Given the description of an element on the screen output the (x, y) to click on. 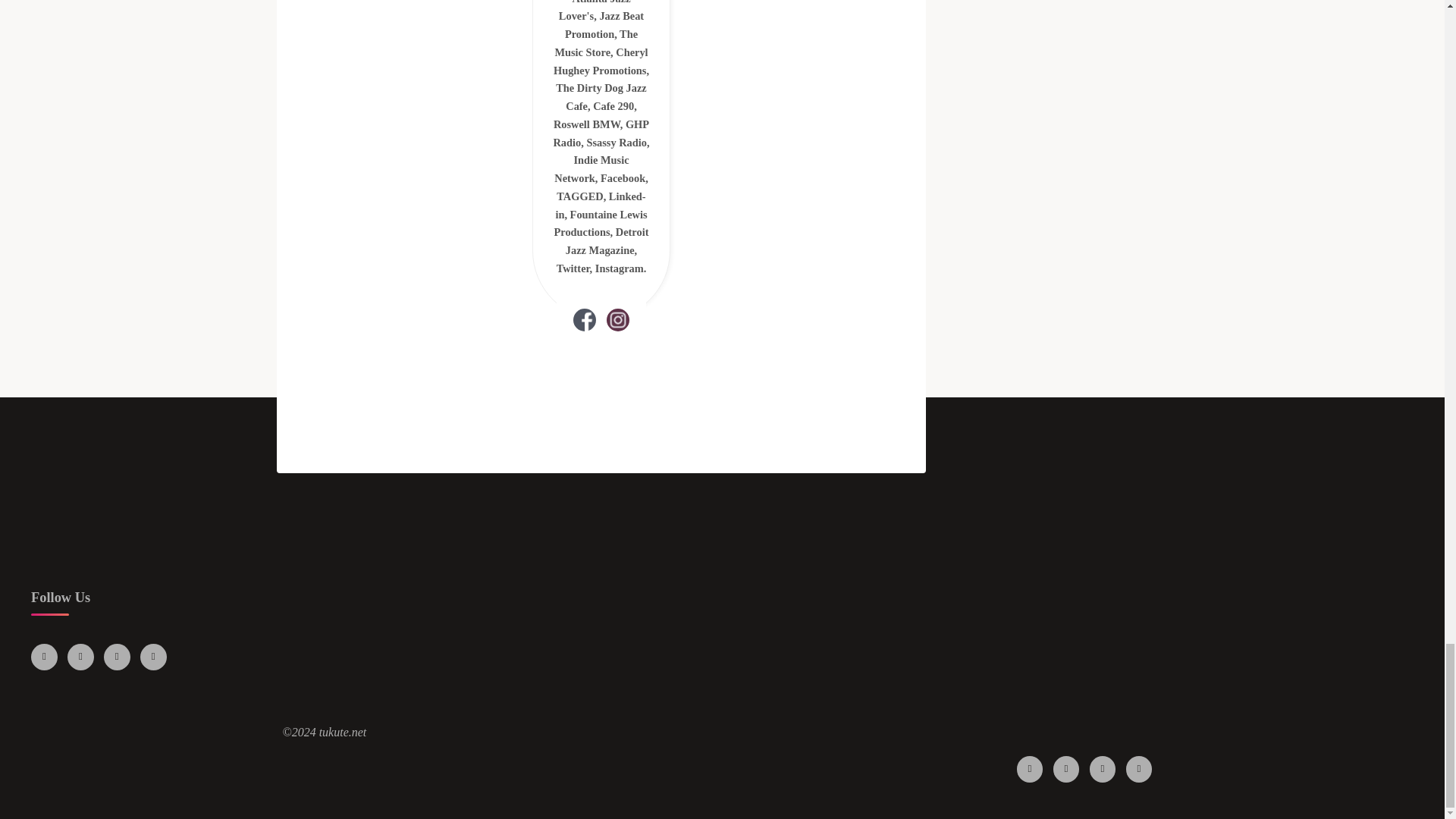
Instagram (80, 656)
Facebook (44, 656)
Instagram page (616, 318)
Facebook page (583, 318)
